Given the description of an element on the screen output the (x, y) to click on. 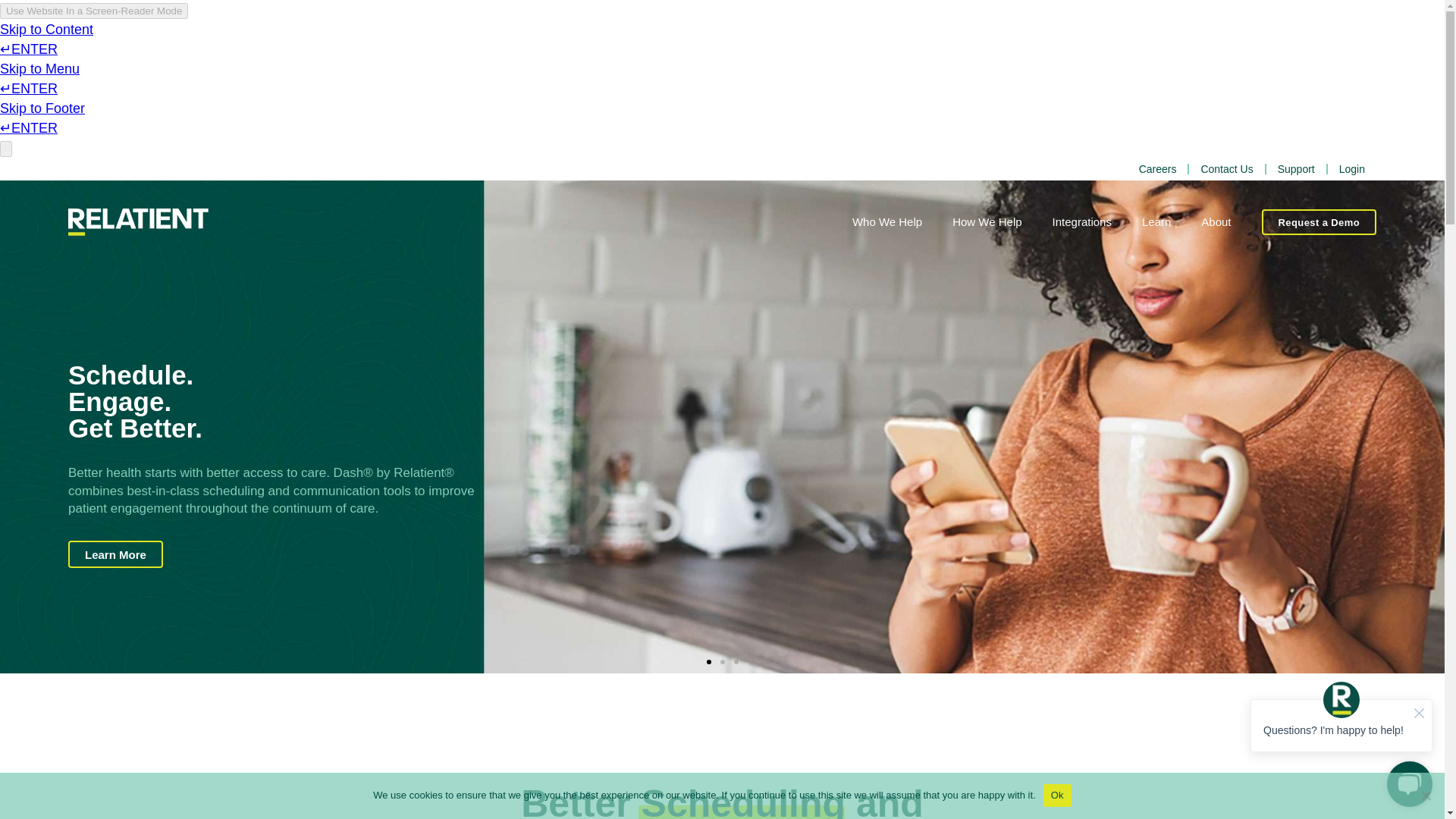
Careers (1157, 169)
Login (1351, 169)
Integrations (1096, 221)
Support (1296, 169)
Request a Demo (1318, 222)
About (1230, 221)
No (1425, 795)
Learn (1171, 221)
How We Help (1001, 221)
Contact Us (1226, 169)
Who We Help (901, 221)
